Given the description of an element on the screen output the (x, y) to click on. 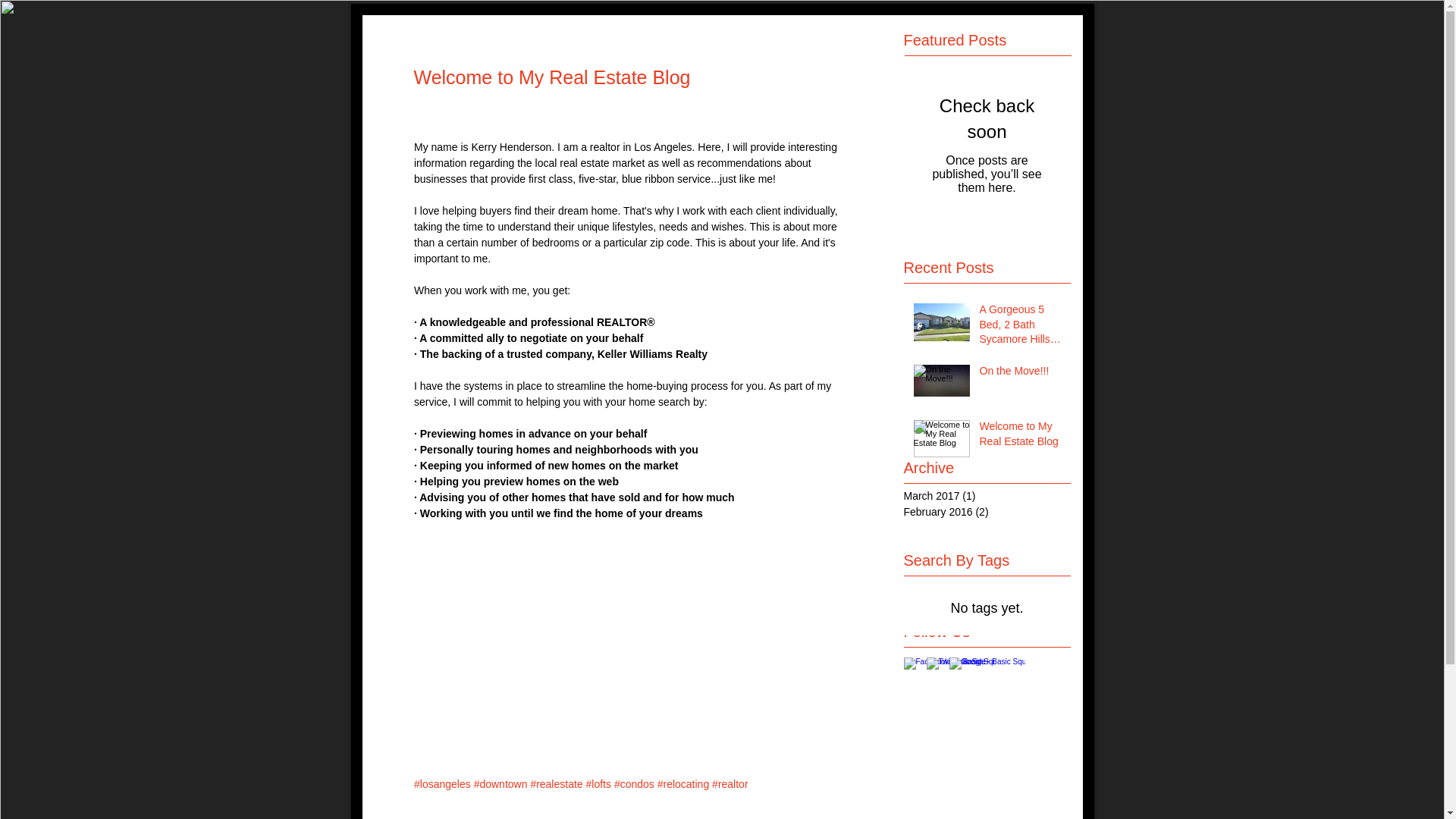
Welcome to My Real Estate Blog (1020, 437)
A Gorgeous 5 Bed, 2 Bath Sycamore Hills Home (1020, 327)
Log In (1046, 57)
On the Move!!! (1020, 373)
